Given the description of an element on the screen output the (x, y) to click on. 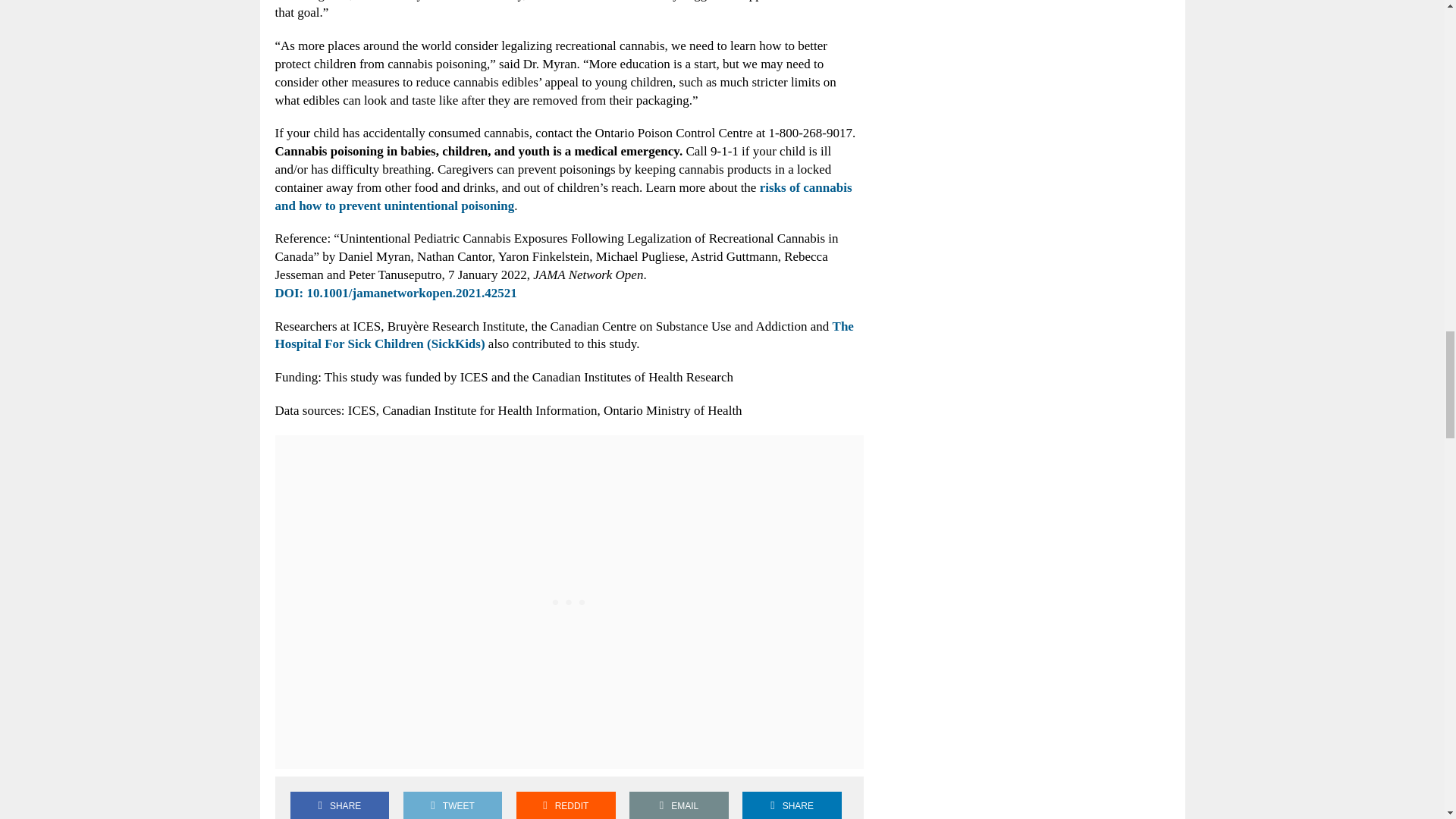
Post This Article to Reddit (565, 805)
Share on LinkedIn (791, 805)
Share on Facebook (338, 805)
Tweet This Article (452, 805)
